Given the description of an element on the screen output the (x, y) to click on. 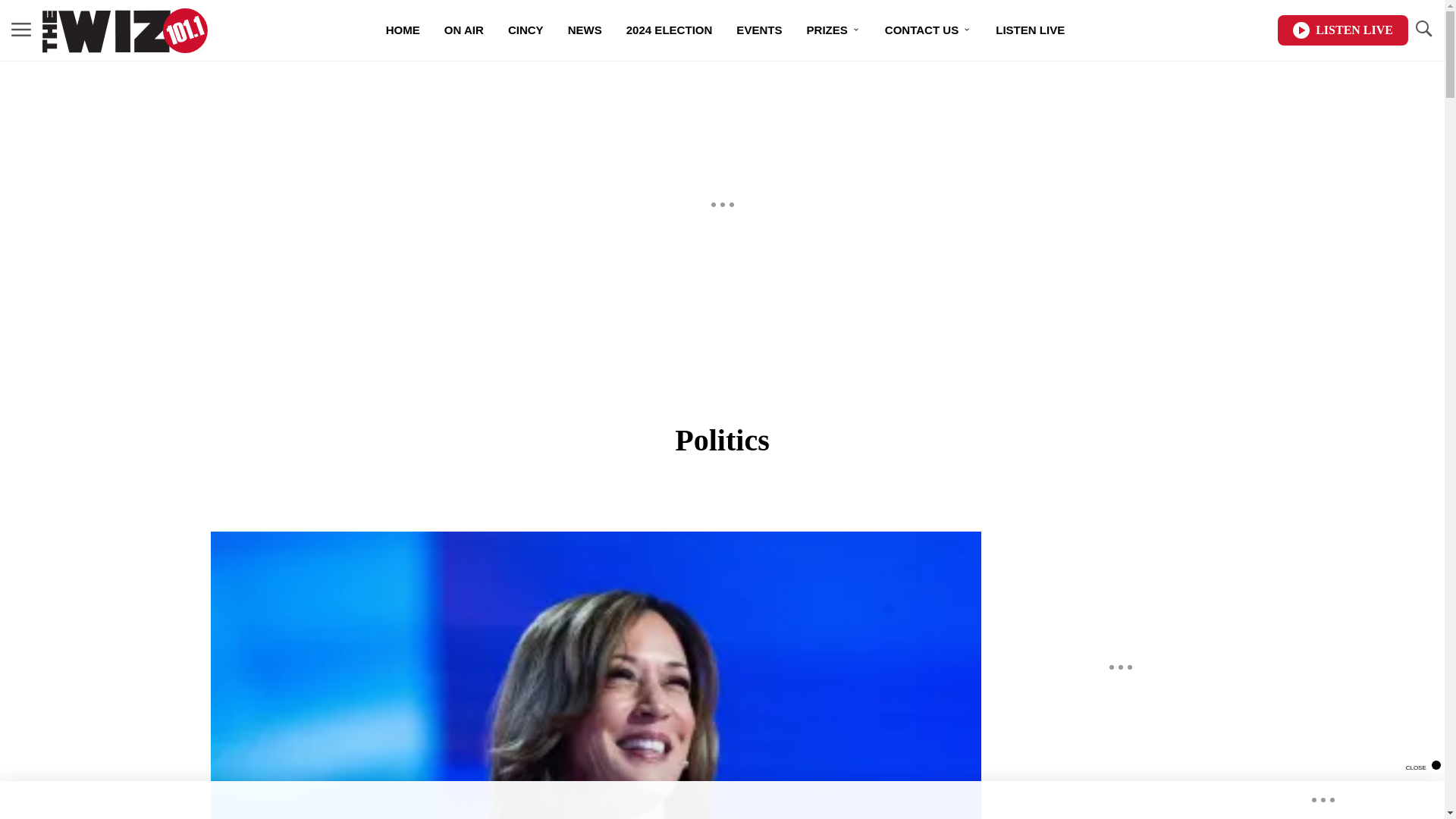
CONTACT US (928, 30)
2024 ELECTION (669, 30)
MENU (20, 30)
PRIZES (833, 30)
LISTEN LIVE (1342, 30)
TOGGLE SEARCH (1422, 28)
NEWS (585, 30)
TOGGLE SEARCH (1422, 30)
ON AIR (464, 30)
EVENTS (758, 30)
